Given the description of an element on the screen output the (x, y) to click on. 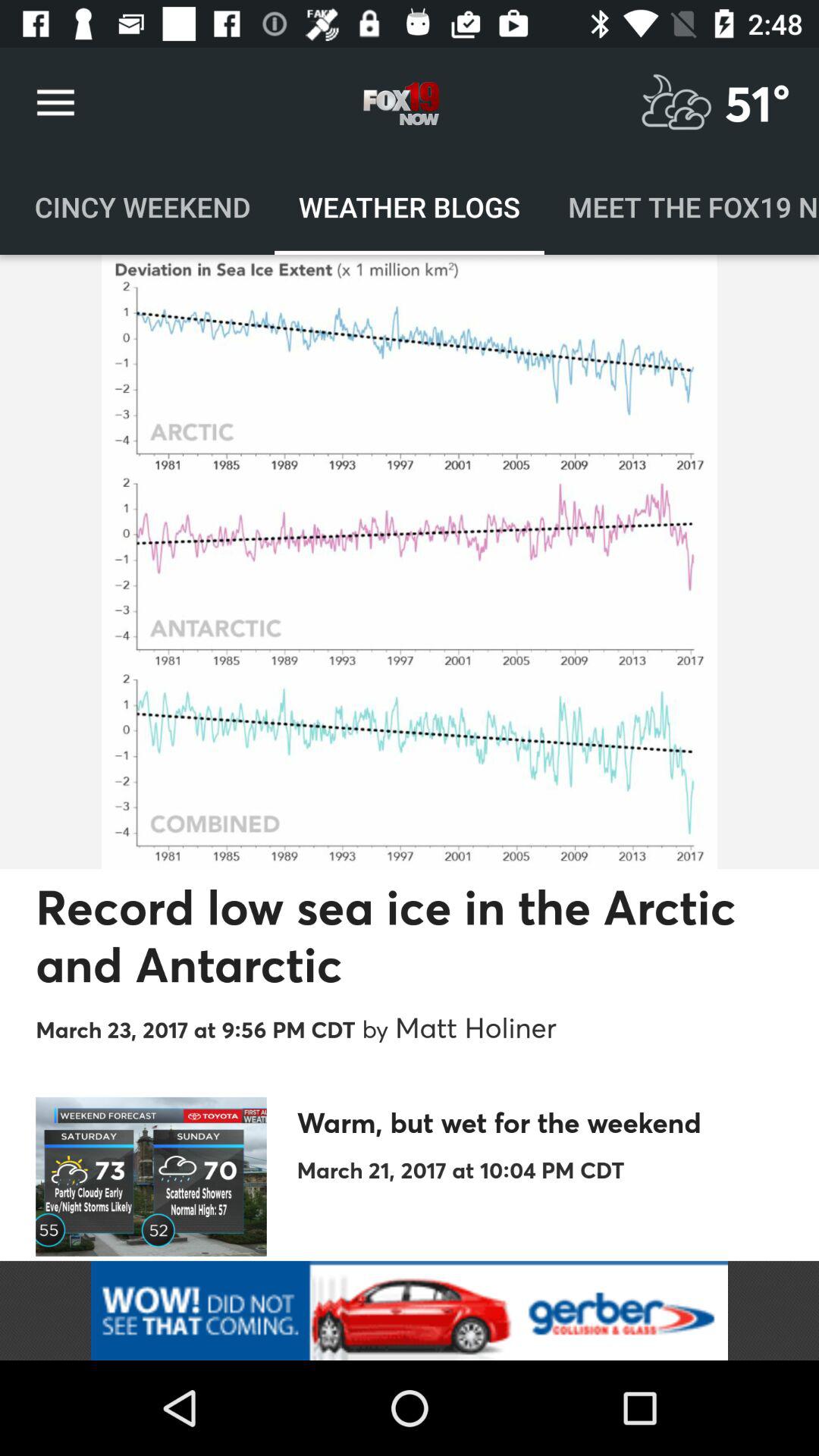
weather option (676, 103)
